Given the description of an element on the screen output the (x, y) to click on. 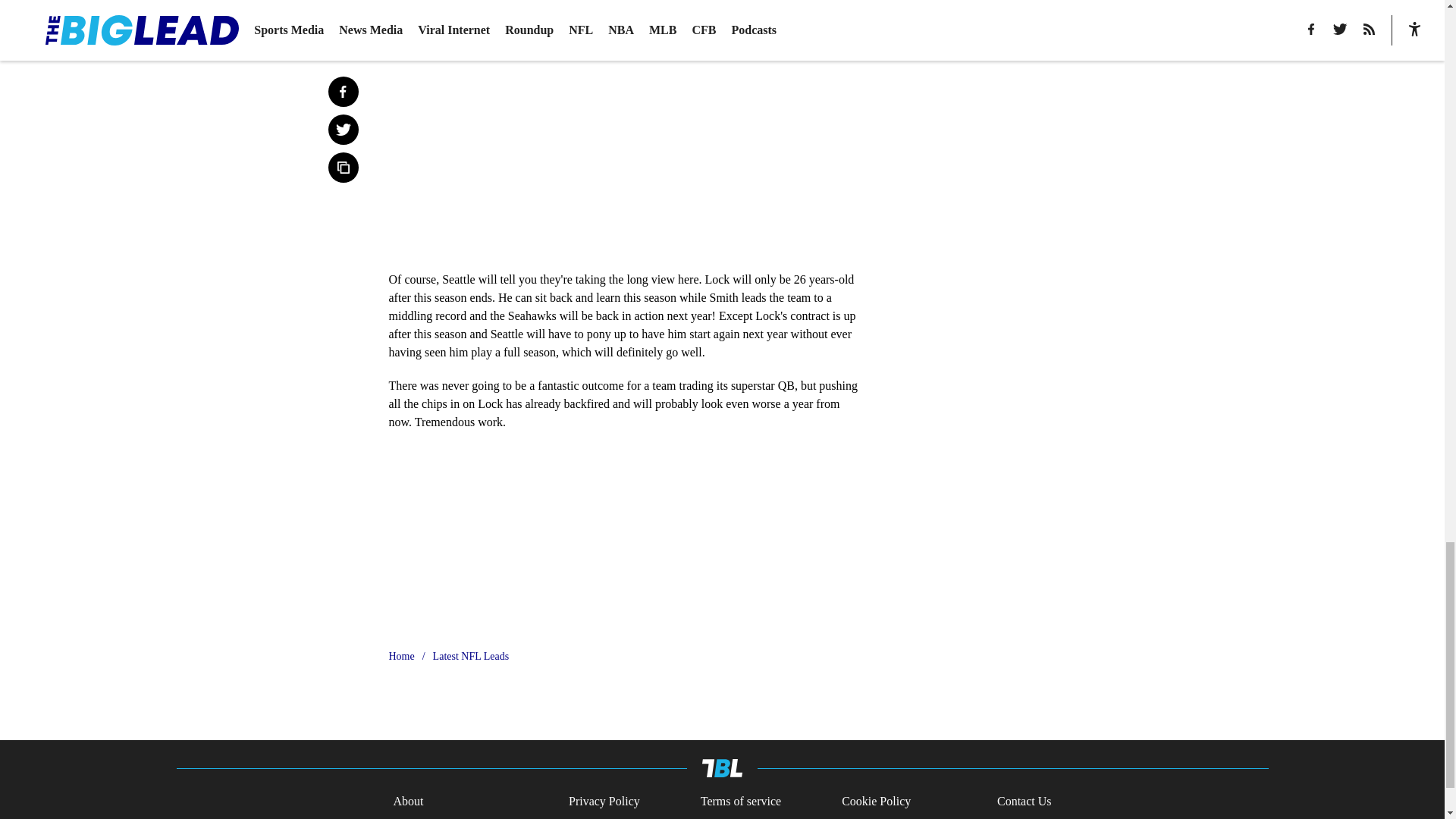
Latest NFL Leads (470, 656)
Privacy Policy (604, 801)
Home (400, 656)
Contact Us (1024, 801)
About (408, 801)
Terms of service (740, 801)
open-spotify (622, 534)
Cookie Policy (876, 801)
